Given the description of an element on the screen output the (x, y) to click on. 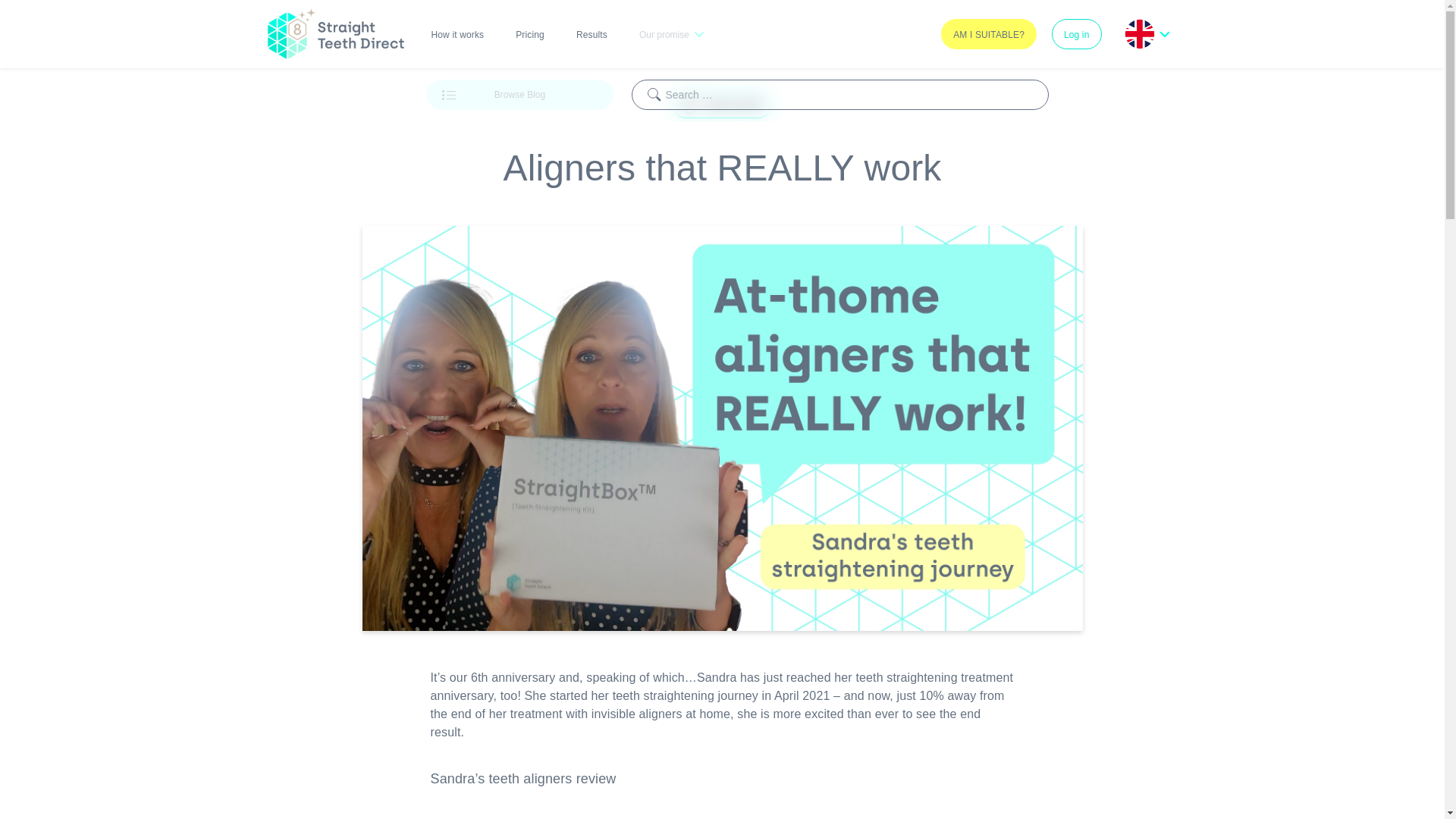
How it works (457, 33)
Our promise (670, 33)
Results (592, 33)
AM I SUITABLE? (988, 33)
Pricing (529, 33)
Log in (1076, 33)
